Given the description of an element on the screen output the (x, y) to click on. 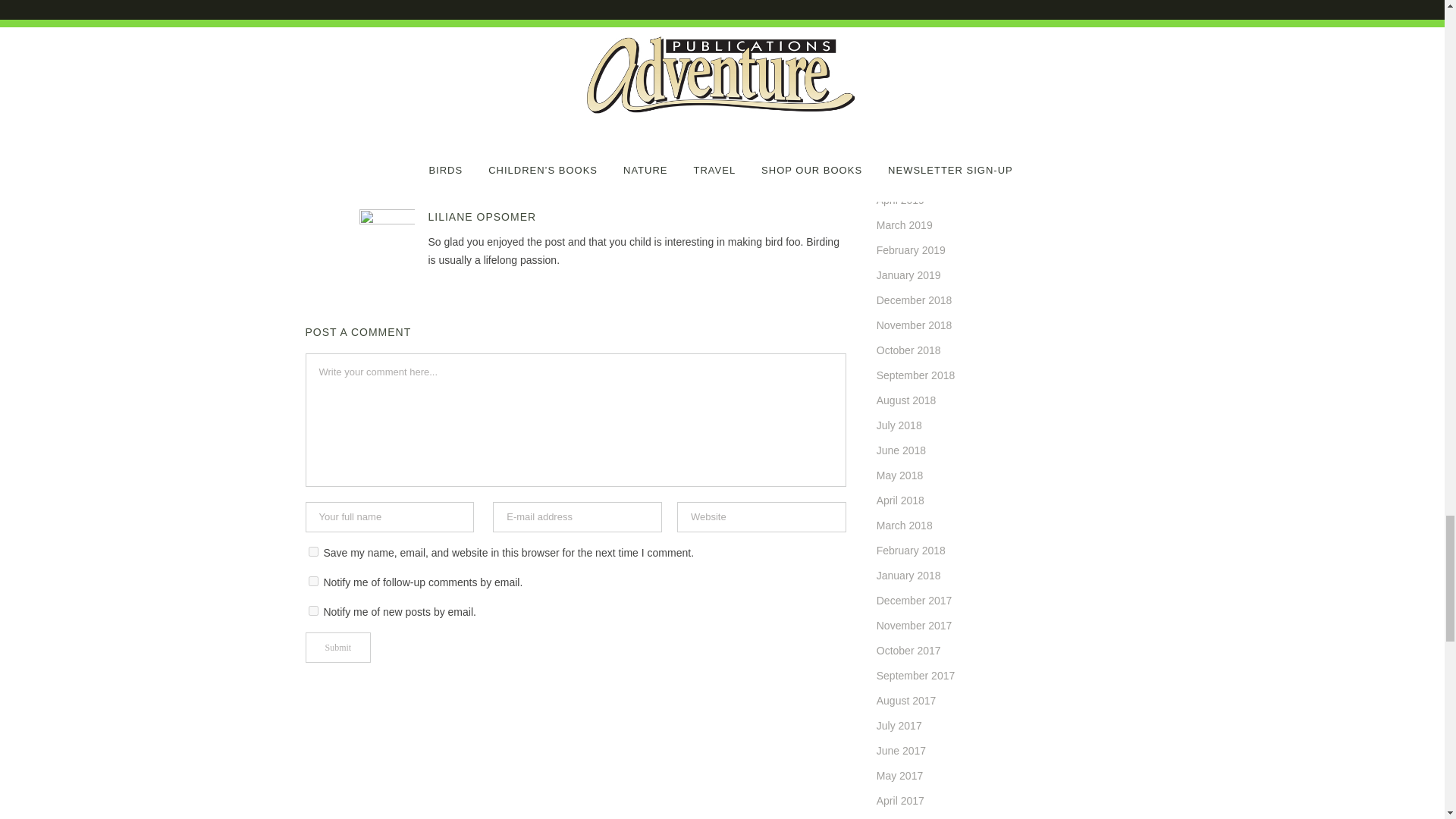
Submit (337, 647)
yes (312, 551)
subscribe (312, 610)
subscribe (312, 581)
